Given the description of an element on the screen output the (x, y) to click on. 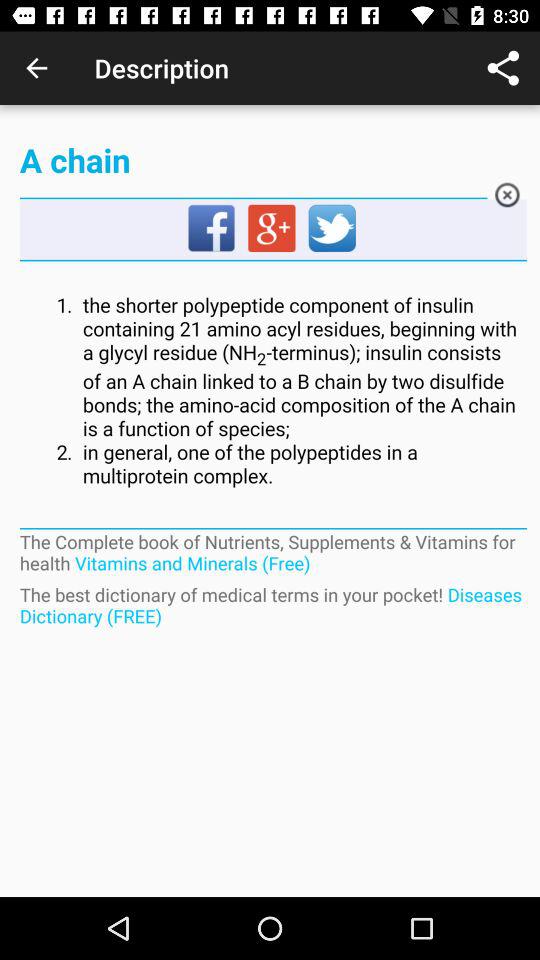
google plus link (273, 229)
